Given the description of an element on the screen output the (x, y) to click on. 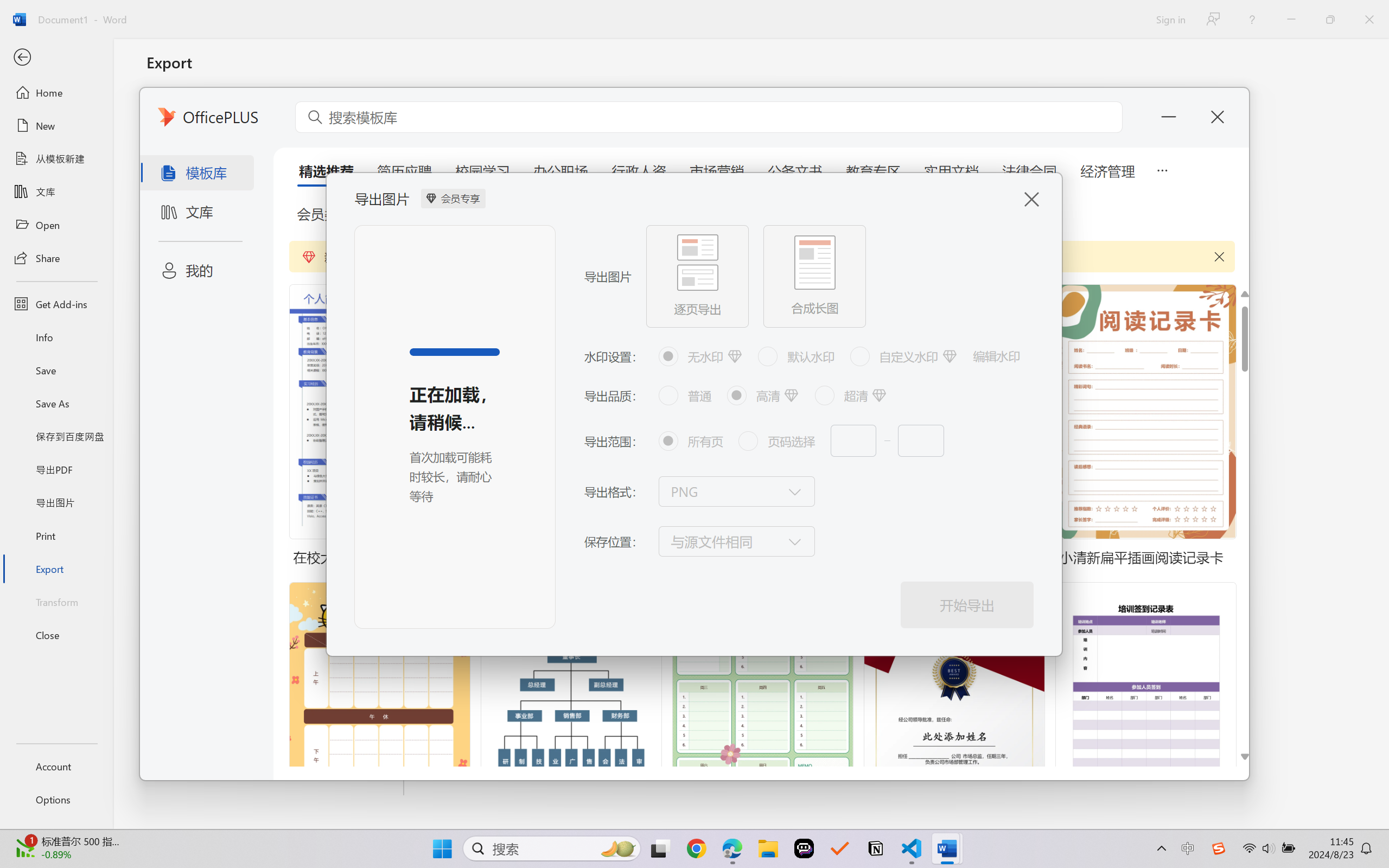
Our policies (335, 71)
Google News (56, 12)
Google Account (792, 12)
Accountability (399, 71)
Go to the Our process page (763, 533)
